Given the description of an element on the screen output the (x, y) to click on. 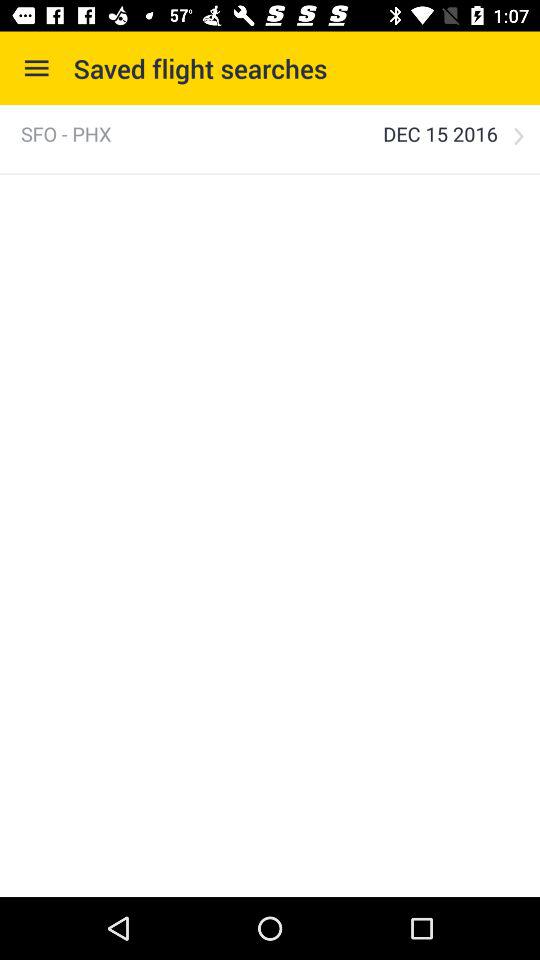
open icon next to the dec 15 2016 icon (518, 136)
